Given the description of an element on the screen output the (x, y) to click on. 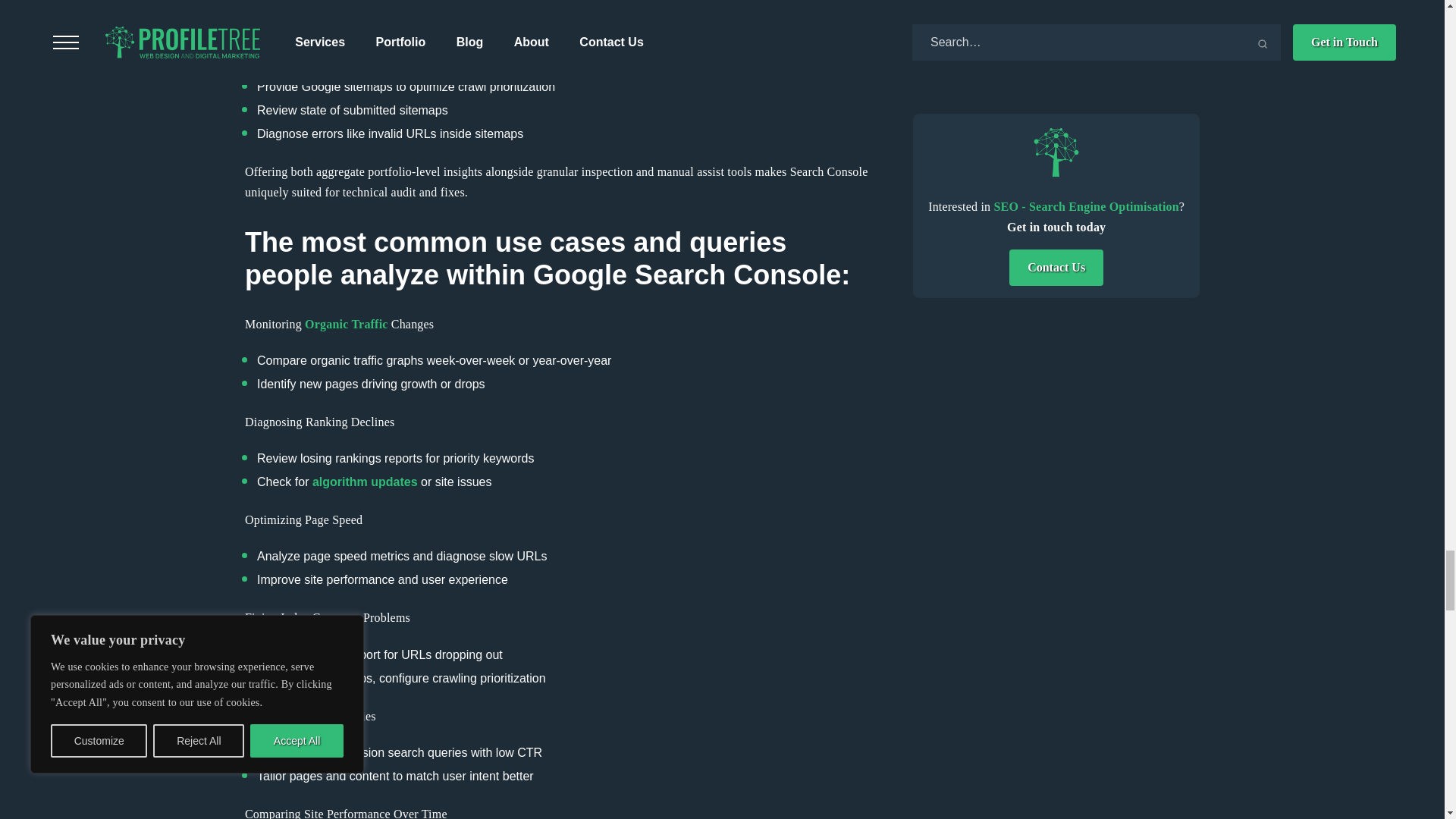
What Do Different Kinds of Organic Traffic Drops Look Like? (346, 323)
SEO Guide: May 22nd Google Algorithm Update (365, 481)
